Given the description of an element on the screen output the (x, y) to click on. 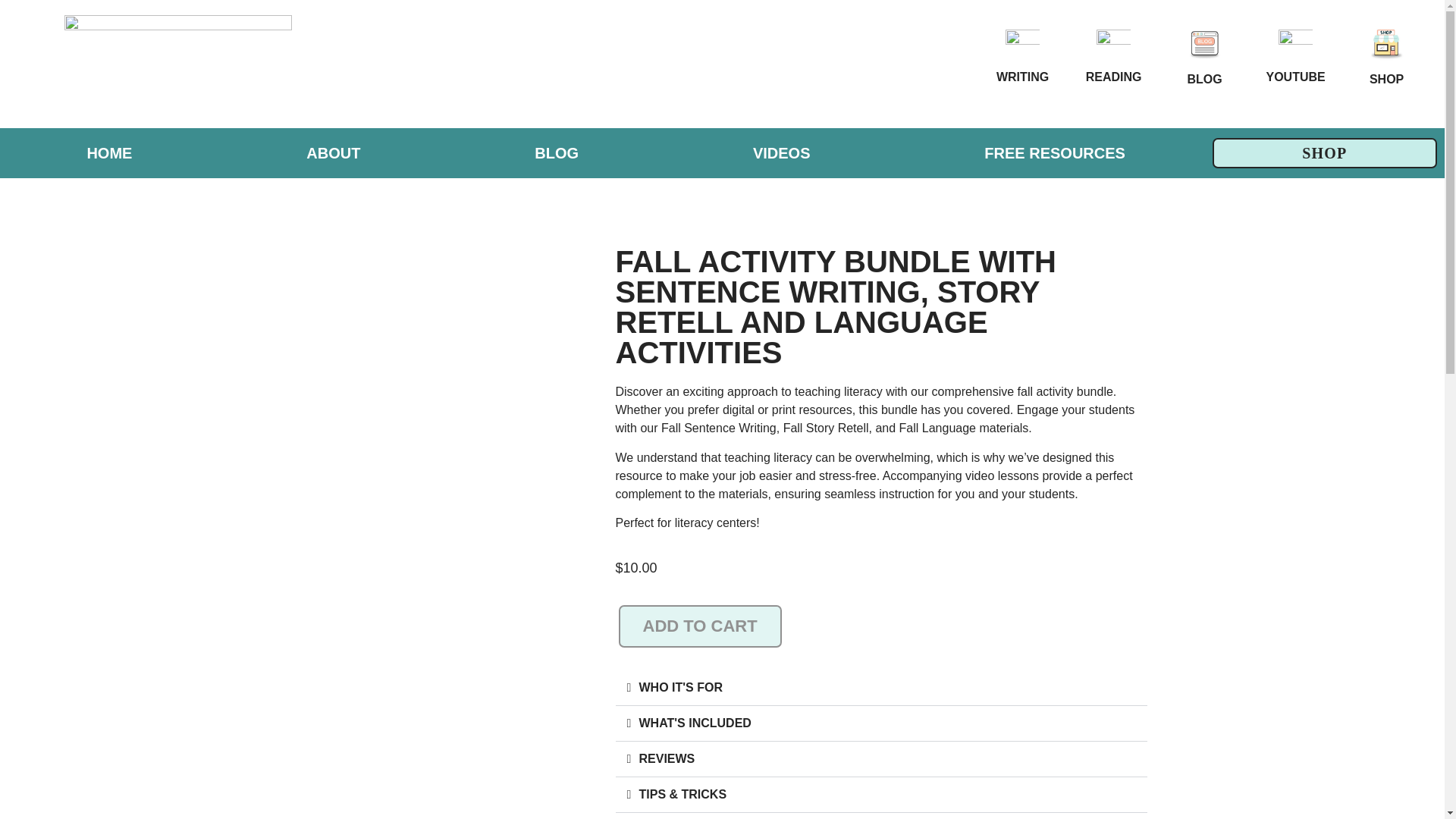
VIDEOS (780, 152)
SHOP (1386, 78)
FREE RESOURCES (1054, 152)
ABOUT (333, 152)
WRITING (1021, 75)
BLOG (556, 152)
READING (1113, 75)
YOUTUBE (1294, 75)
BLOG (1205, 78)
WHO IT'S FOR (680, 686)
